Given the description of an element on the screen output the (x, y) to click on. 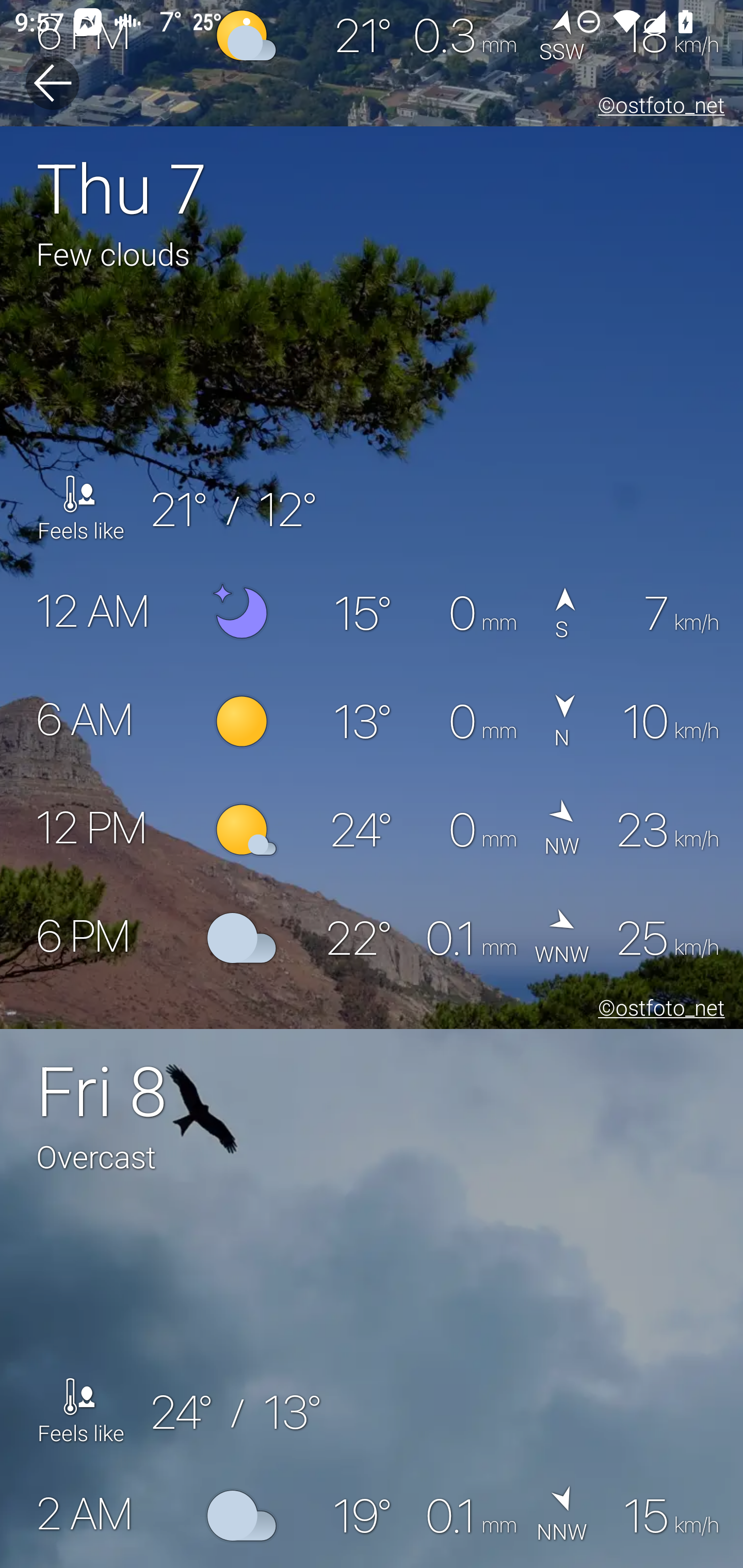
©ostfoto_net (657, 108)
12 AM 15° 0 mm  S 7 km/h (371, 613)
6 AM 13° 0 mm  N 10 km/h (371, 721)
12 PM 24° 0 mm  NW 23 km/h (371, 830)
6 PM 22° 0.1 mm  WNW 25 km/h (371, 938)
©ostfoto_net (657, 1010)
2 AM 19° 0.1 mm  NNW 15 km/h (371, 1514)
